Given the description of an element on the screen output the (x, y) to click on. 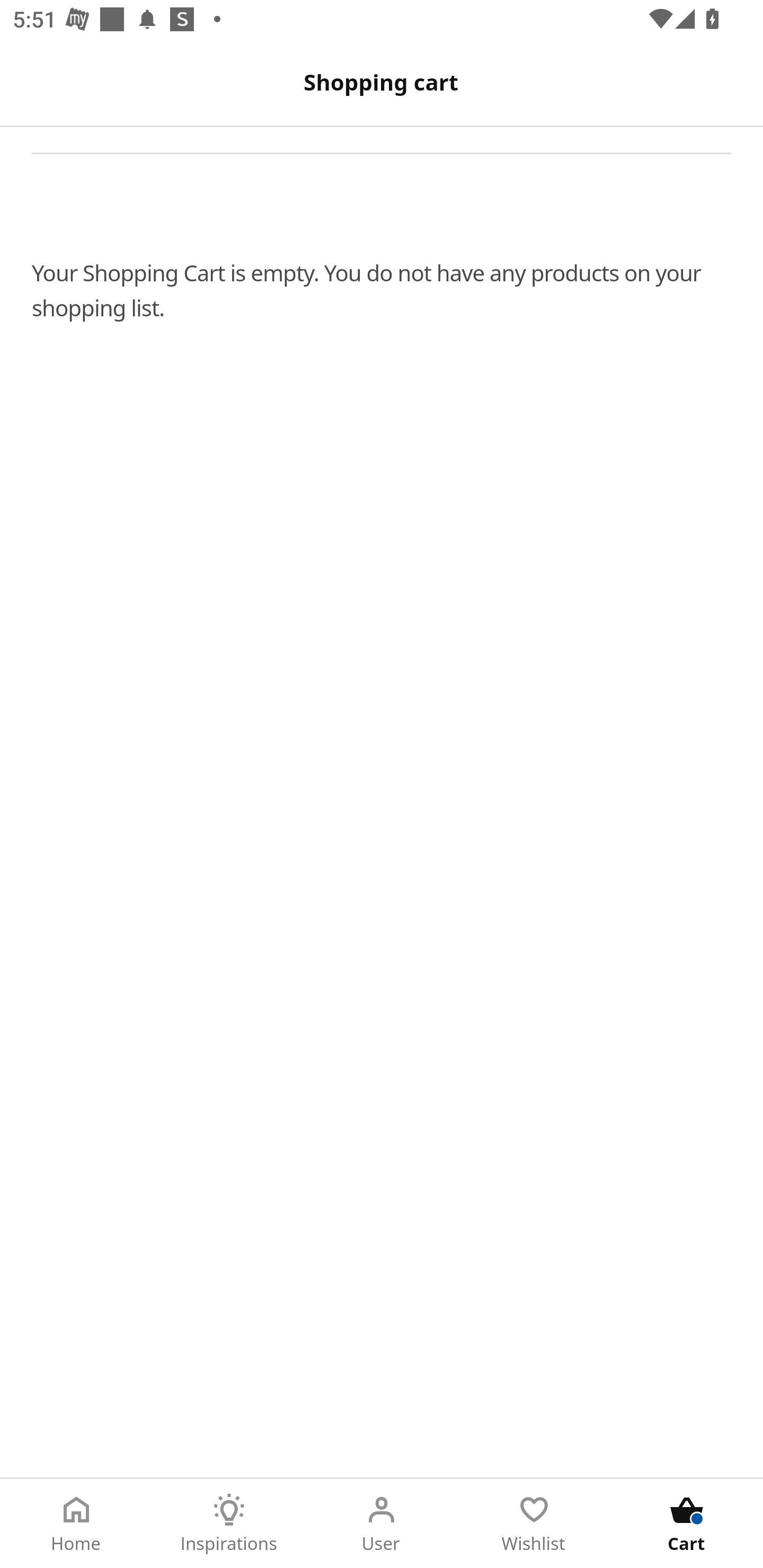
Home
Tab 1 of 5 (76, 1522)
Inspirations
Tab 2 of 5 (228, 1522)
User
Tab 3 of 5 (381, 1522)
Wishlist
Tab 4 of 5 (533, 1522)
Cart
Tab 5 of 5 (686, 1522)
